Given the description of an element on the screen output the (x, y) to click on. 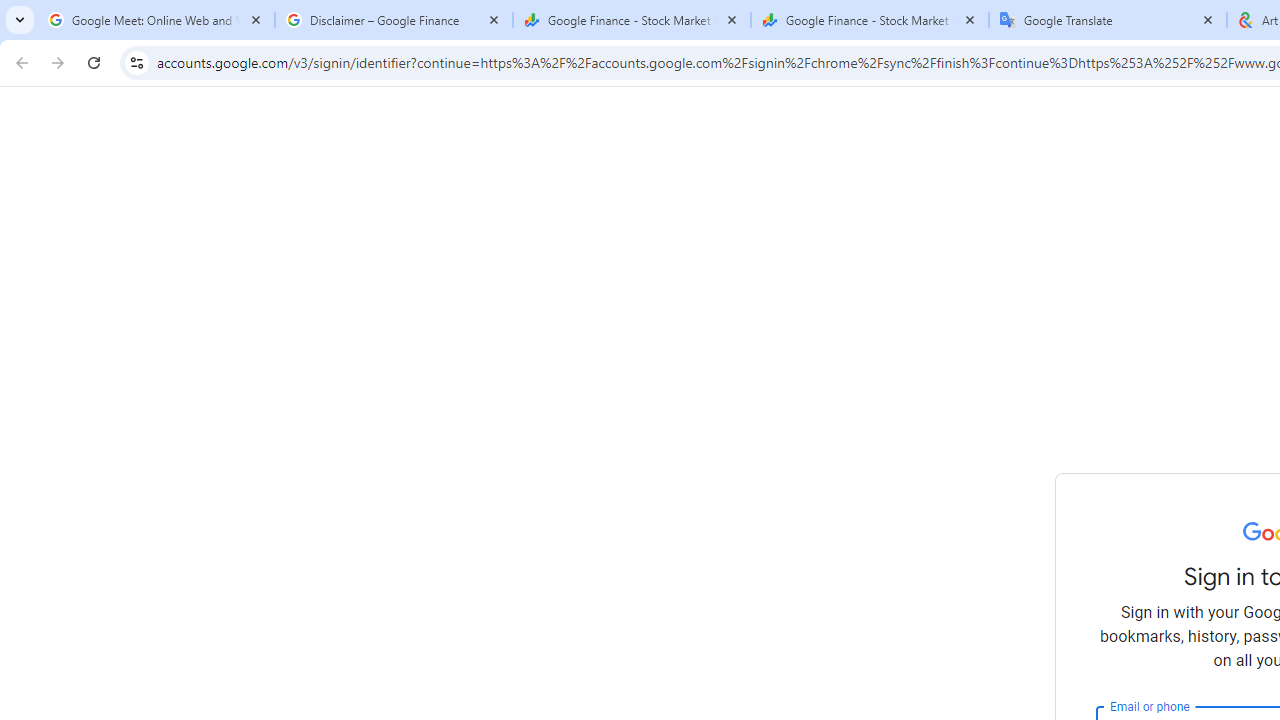
Google Translate (1108, 20)
